Given the description of an element on the screen output the (x, y) to click on. 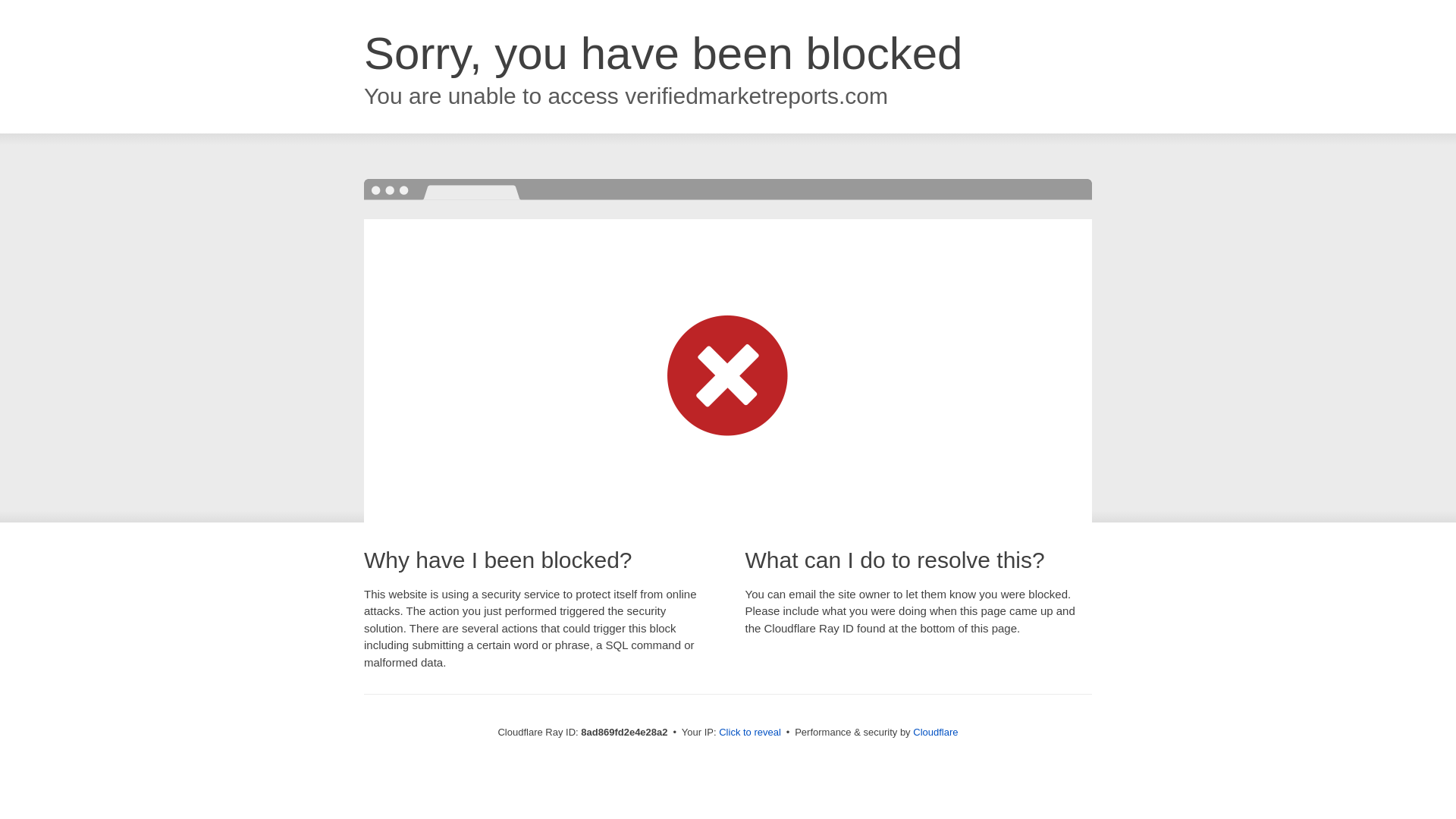
Click to reveal (749, 732)
Cloudflare (935, 731)
